Given the description of an element on the screen output the (x, y) to click on. 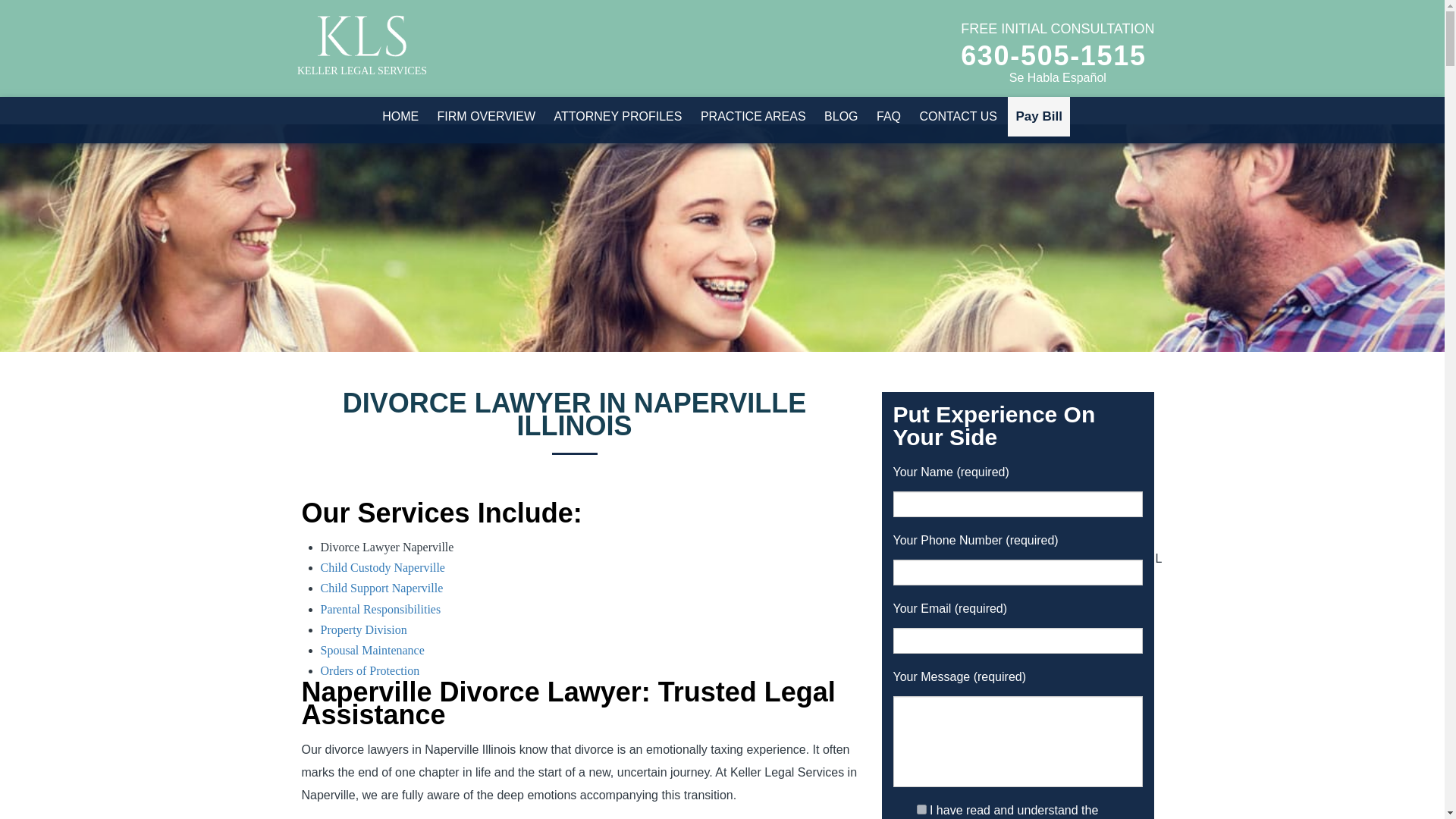
FAQ (888, 116)
ATTORNEY PROFILES (618, 116)
CONTACT US (957, 116)
Child Custody Naperville (382, 567)
1 (920, 809)
Orders of Protection (369, 670)
Pay Bill (1037, 116)
BLOG (840, 116)
Property Division (363, 629)
Parental Responsibilities (380, 608)
